Given the description of an element on the screen output the (x, y) to click on. 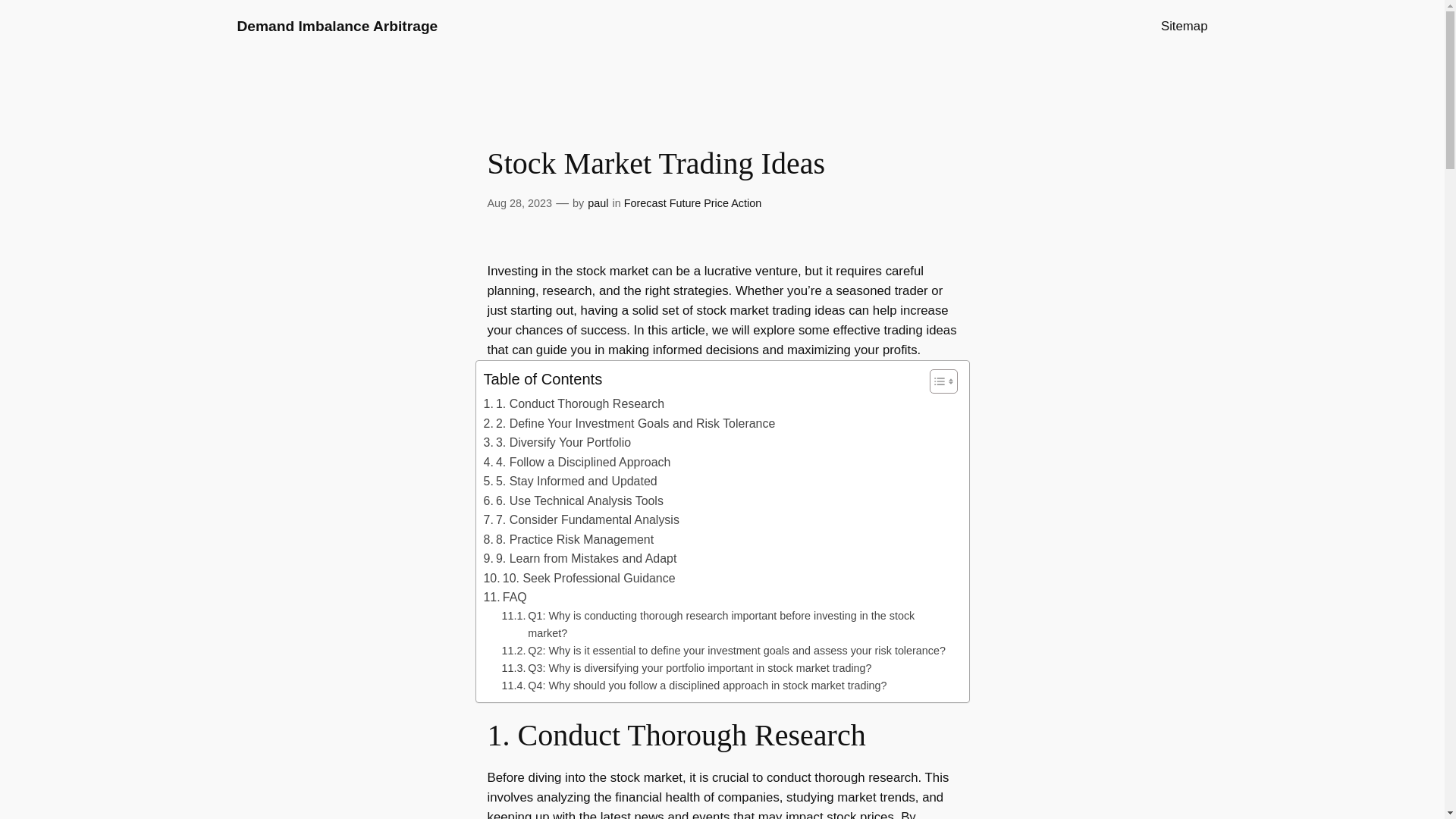
6. Use Technical Analysis Tools (573, 501)
4. Follow a Disciplined Approach (577, 462)
2. Define Your Investment Goals and Risk Tolerance (629, 424)
3. Diversify Your Portfolio (557, 442)
Forecast Future Price Action (692, 203)
9. Learn from Mistakes and Adapt (580, 558)
Sitemap (1184, 26)
8. Practice Risk Management (568, 539)
